Given the description of an element on the screen output the (x, y) to click on. 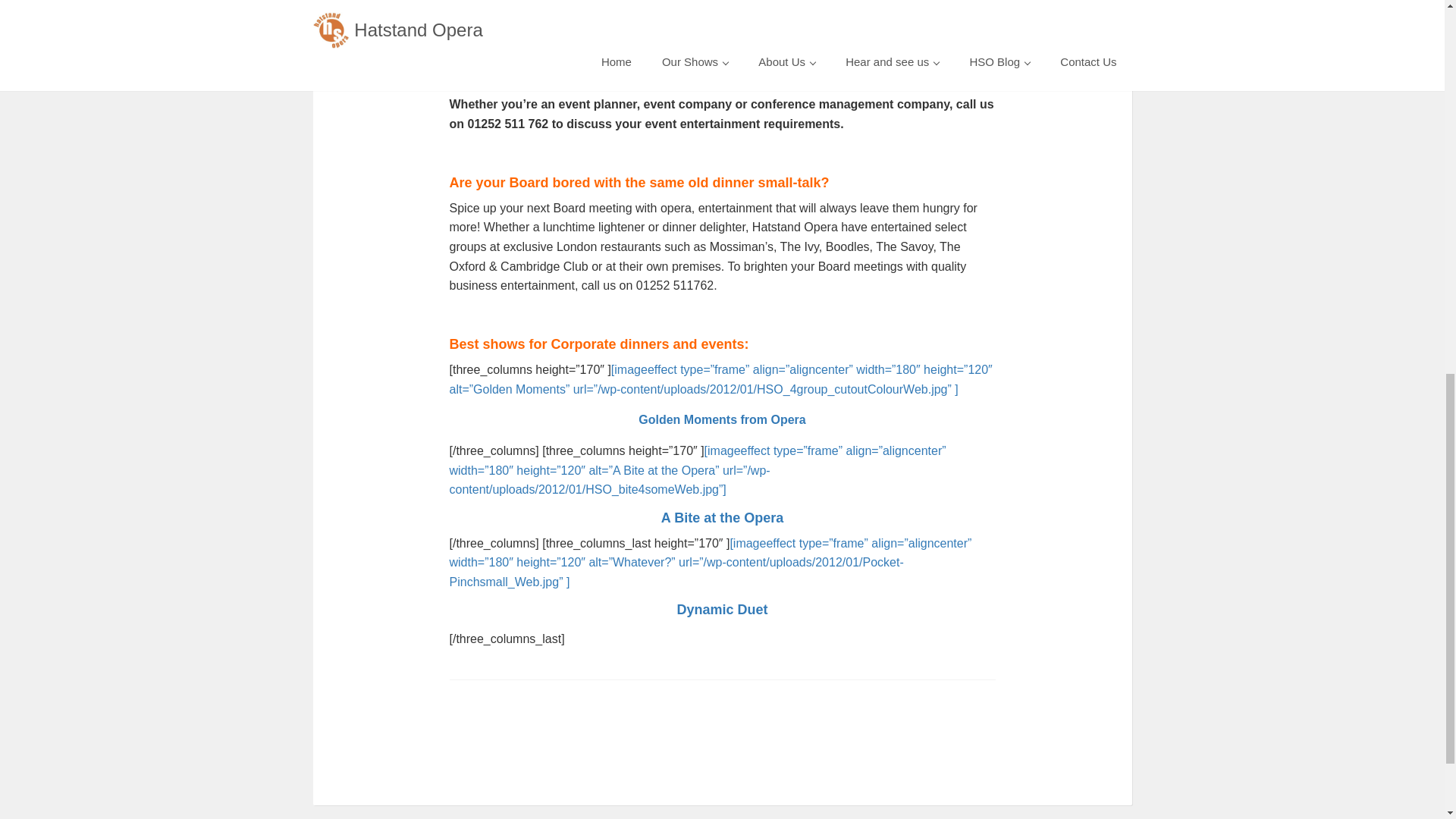
A Bite at the Opera (722, 517)
Golden Moments from Opera (722, 419)
Dynamic Duet (722, 609)
